Given the description of an element on the screen output the (x, y) to click on. 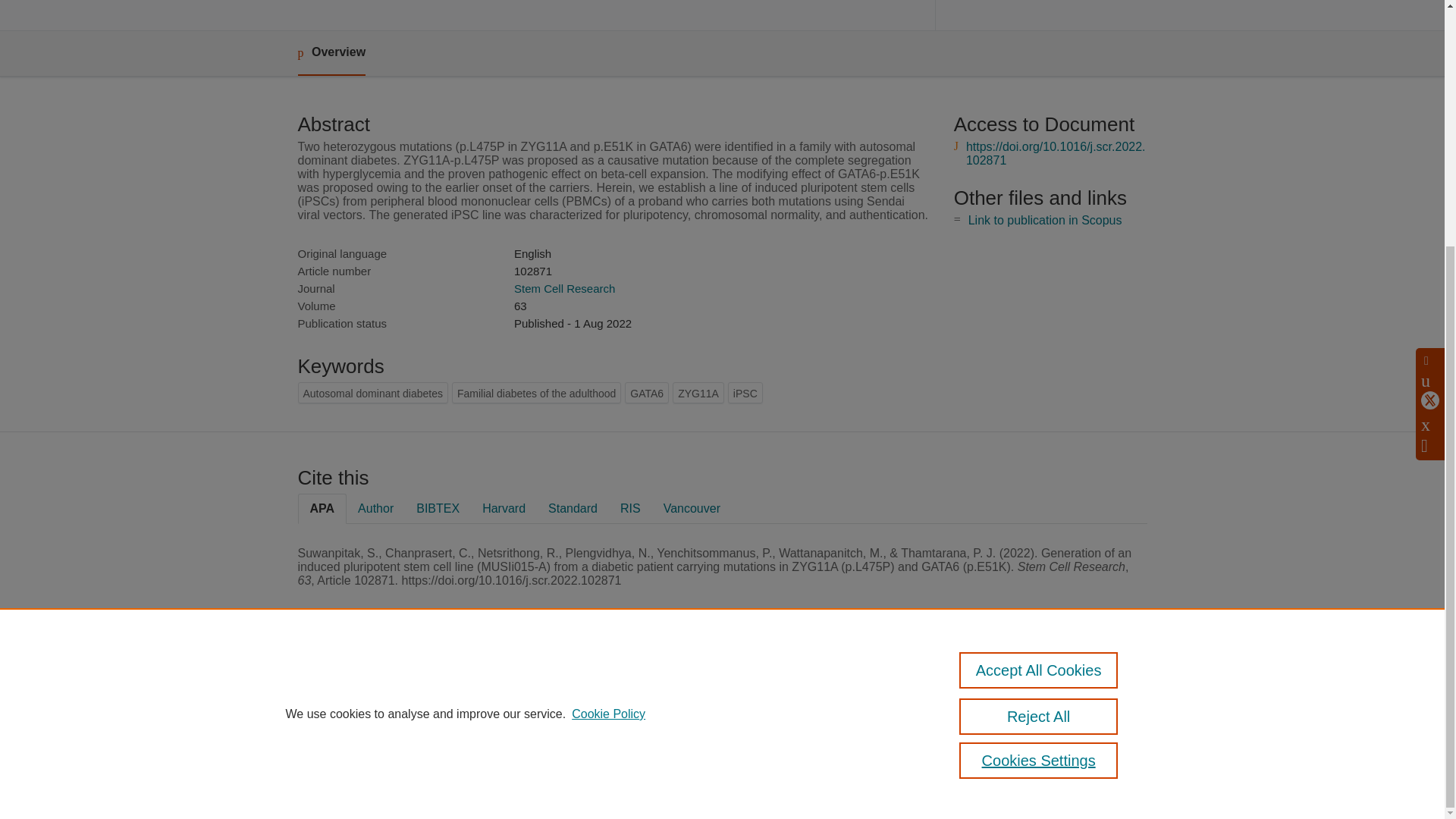
Report vulnerability (1010, 749)
Pure (611, 685)
About web accessibility (1019, 728)
Elsevier B.V. (754, 706)
Contact us (1125, 691)
Cookie Policy (608, 370)
Stem Cell Research (563, 287)
Amsterdam UMC research portal data protection policy (1012, 697)
use of cookies (651, 760)
Cookies Settings (583, 781)
